Given the description of an element on the screen output the (x, y) to click on. 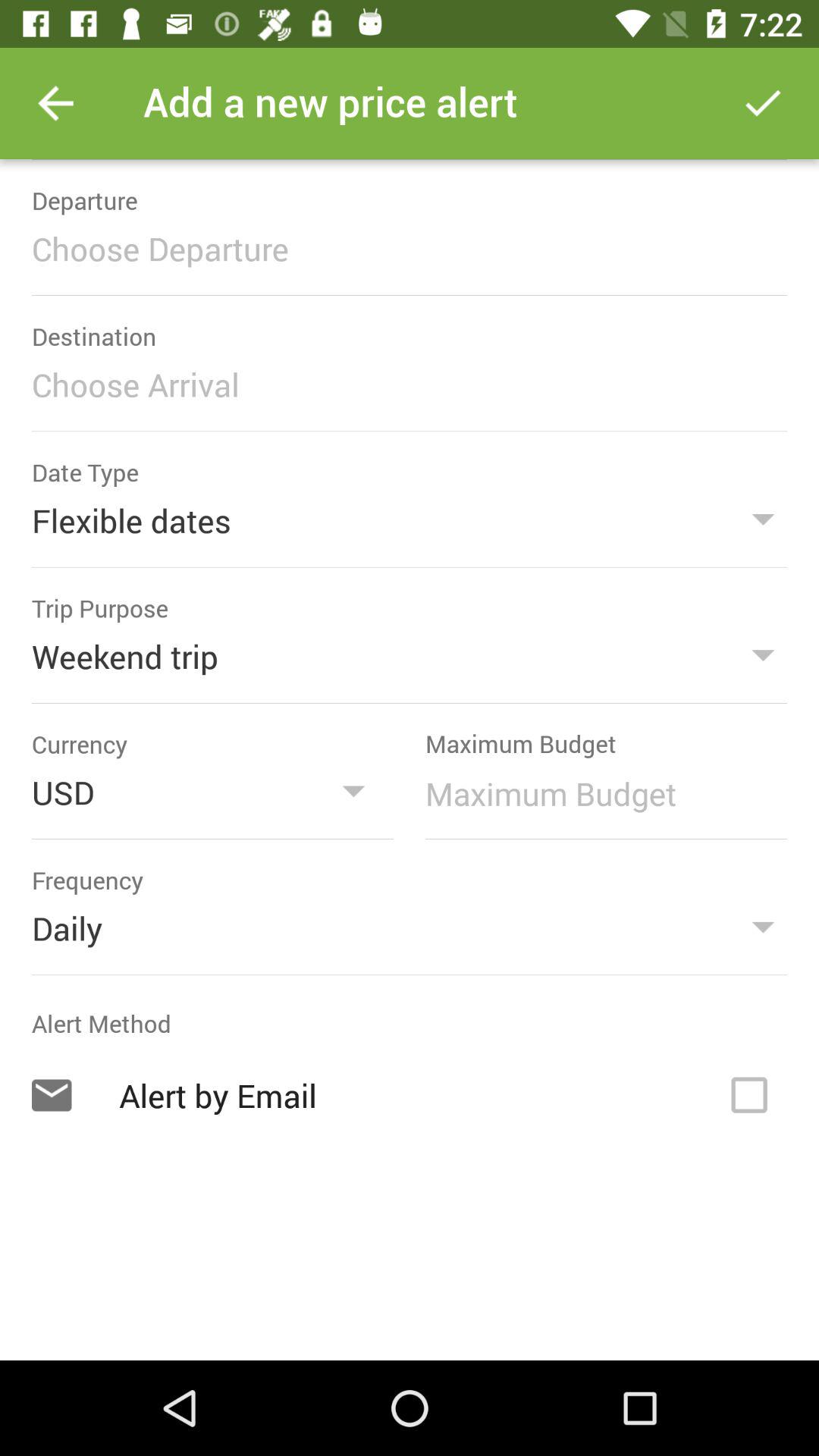
activate the alert by email option (749, 1094)
